Given the description of an element on the screen output the (x, y) to click on. 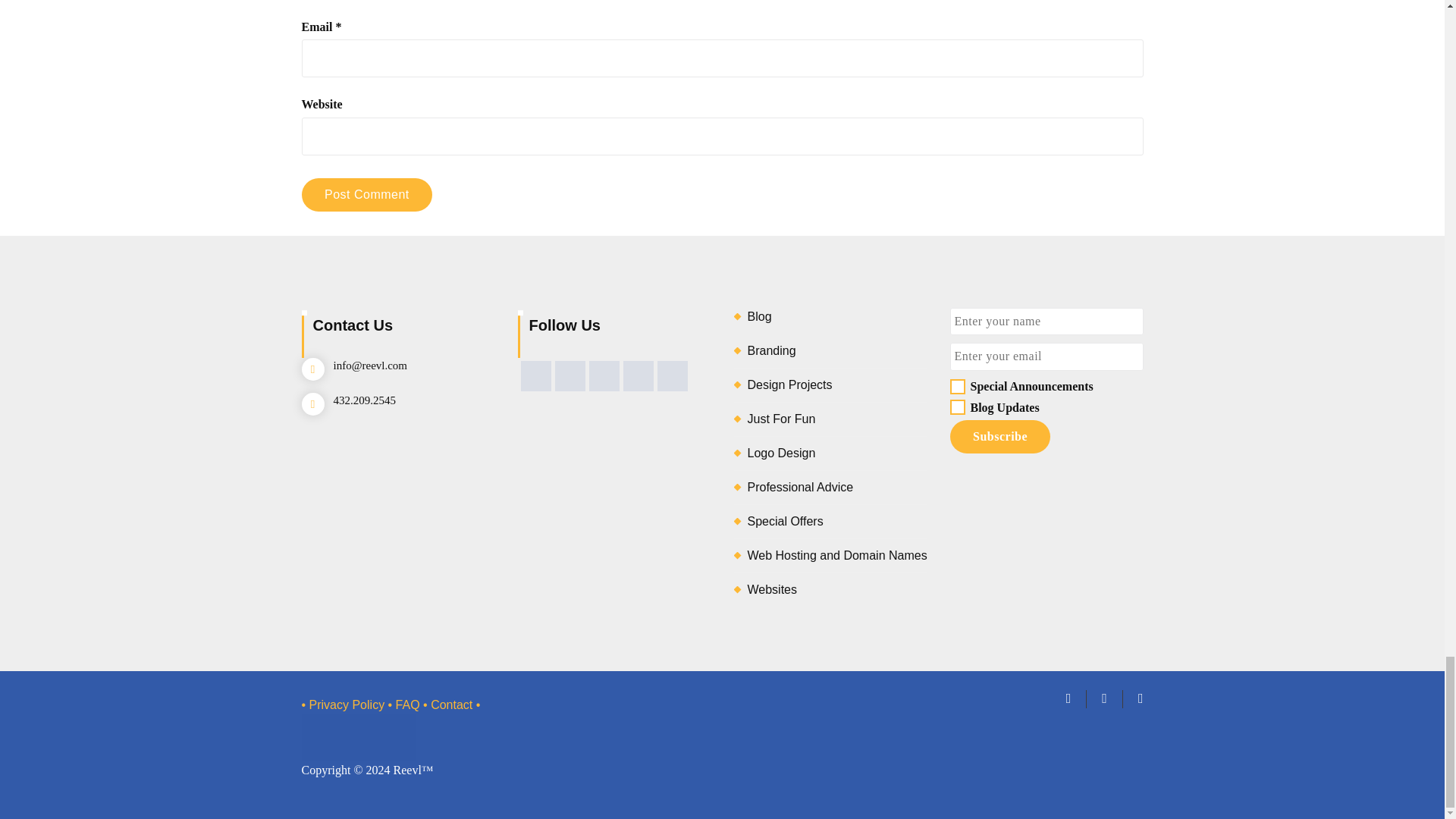
Subscribe (999, 436)
f0509ba12127 (956, 406)
Post Comment (366, 194)
c6b1229c27a7 (956, 386)
